Given the description of an element on the screen output the (x, y) to click on. 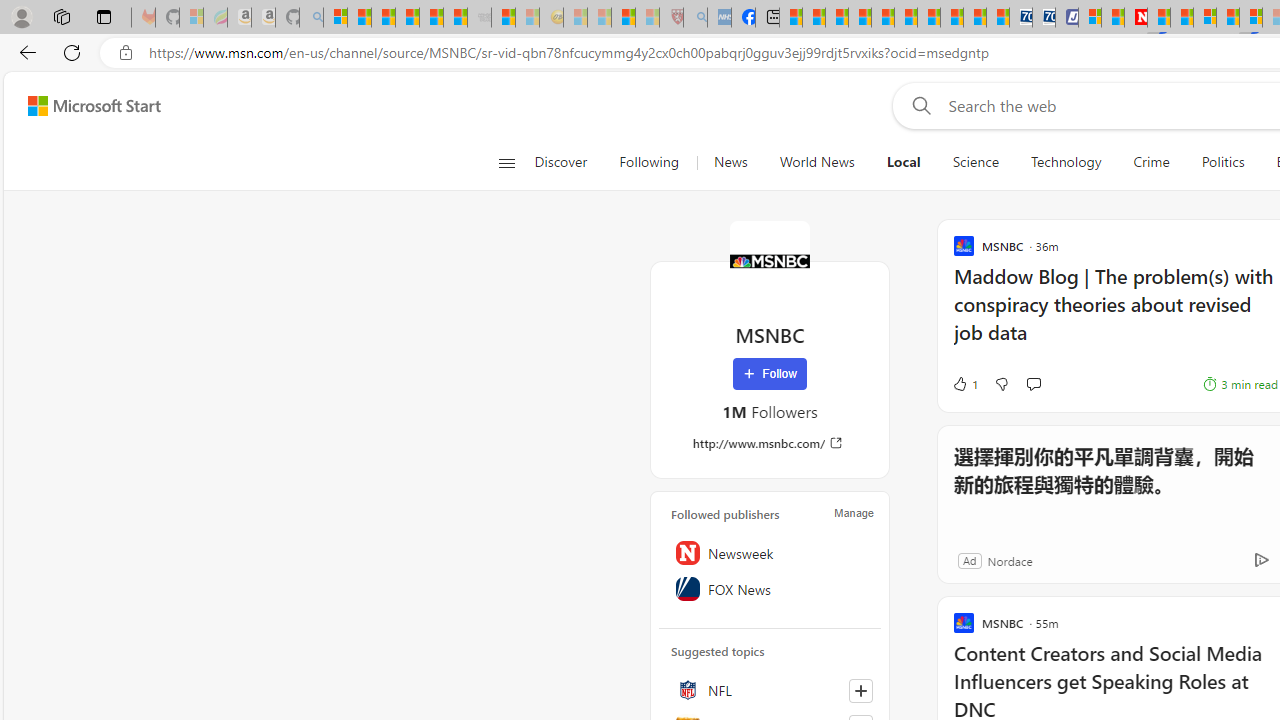
FOX News (770, 588)
The Weather Channel - MSN (383, 17)
Follow (769, 373)
